Given the description of an element on the screen output the (x, y) to click on. 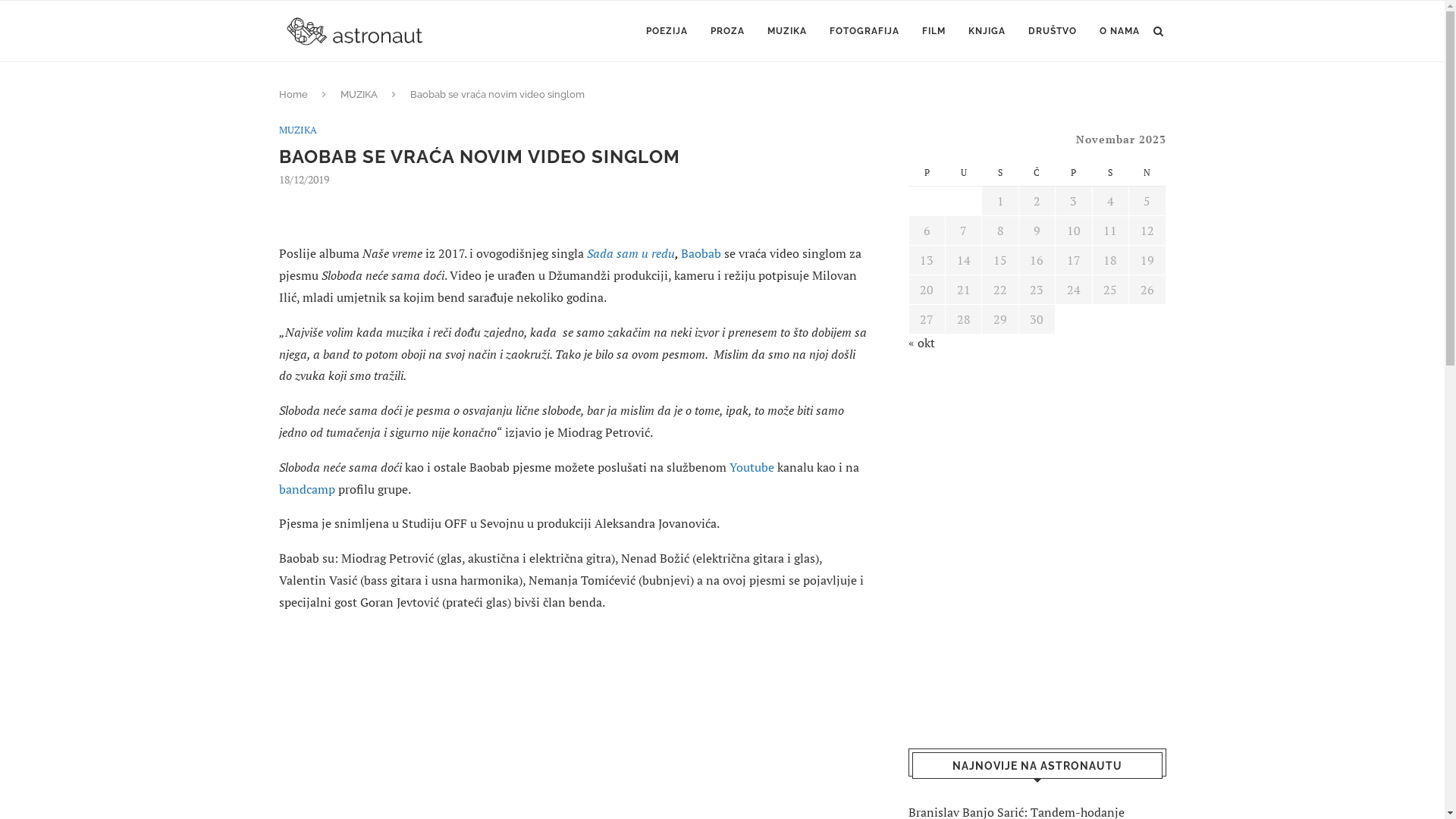
PROZA Element type: text (726, 30)
FILM Element type: text (933, 30)
O NAMA Element type: text (1119, 30)
POEZIJA Element type: text (666, 30)
Baobab Element type: text (702, 252)
MUZIKA Element type: text (297, 130)
MUZIKA Element type: text (357, 94)
Youtube Element type: text (751, 466)
MUZIKA Element type: text (786, 30)
Home Element type: text (293, 94)
BOABOB Element type: hover (573, 207)
FOTOGRAFIJA Element type: text (864, 30)
KNJIGA Element type: text (985, 30)
bandcamp Element type: text (307, 488)
Sada sam u redu Element type: text (630, 252)
